Given the description of an element on the screen output the (x, y) to click on. 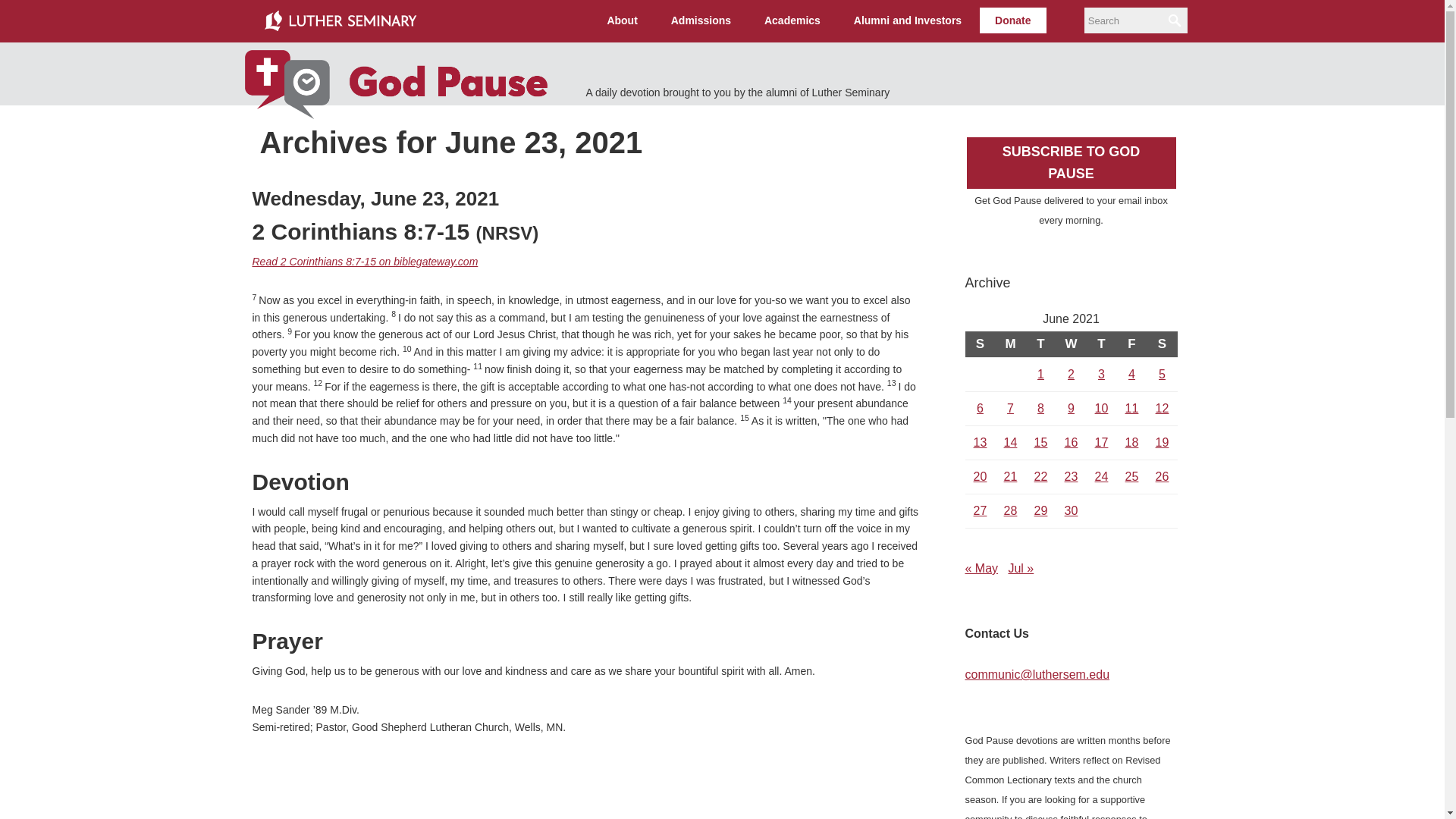
Alumni and Investors (907, 20)
Luther Seminary (339, 21)
Tuesday (1040, 344)
About (621, 20)
Monday (1009, 344)
Thursday (1101, 344)
Friday (1131, 344)
Saturday (1161, 344)
Admissions (700, 20)
